Given the description of an element on the screen output the (x, y) to click on. 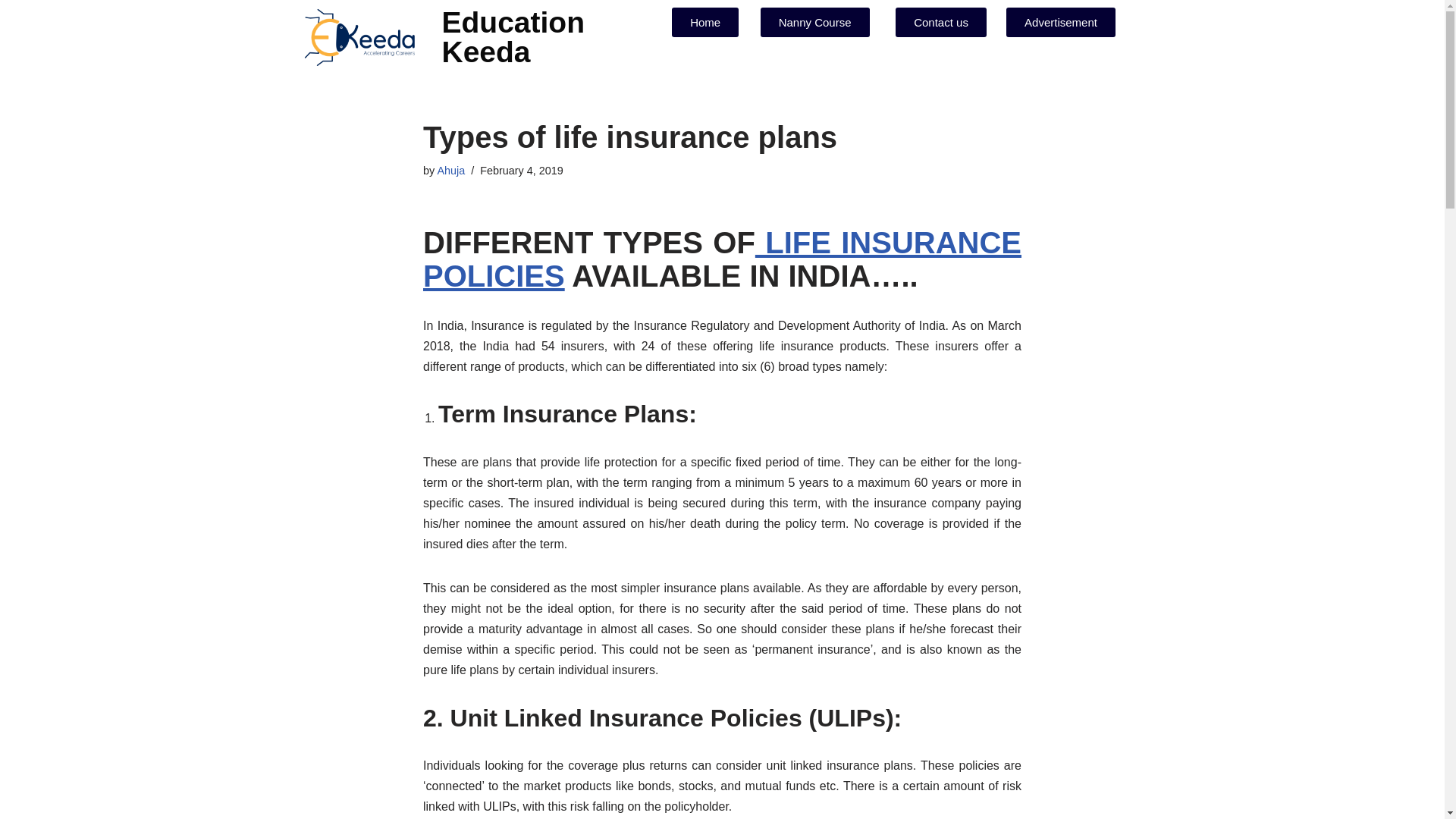
Contact us (941, 21)
Skip to content (11, 31)
LIFE INSURANCE POLICIES (722, 259)
Home (704, 21)
Advertisement (1060, 21)
Posts by Ahuja (450, 170)
Ahuja (450, 170)
Nanny Course (814, 21)
